Given the description of an element on the screen output the (x, y) to click on. 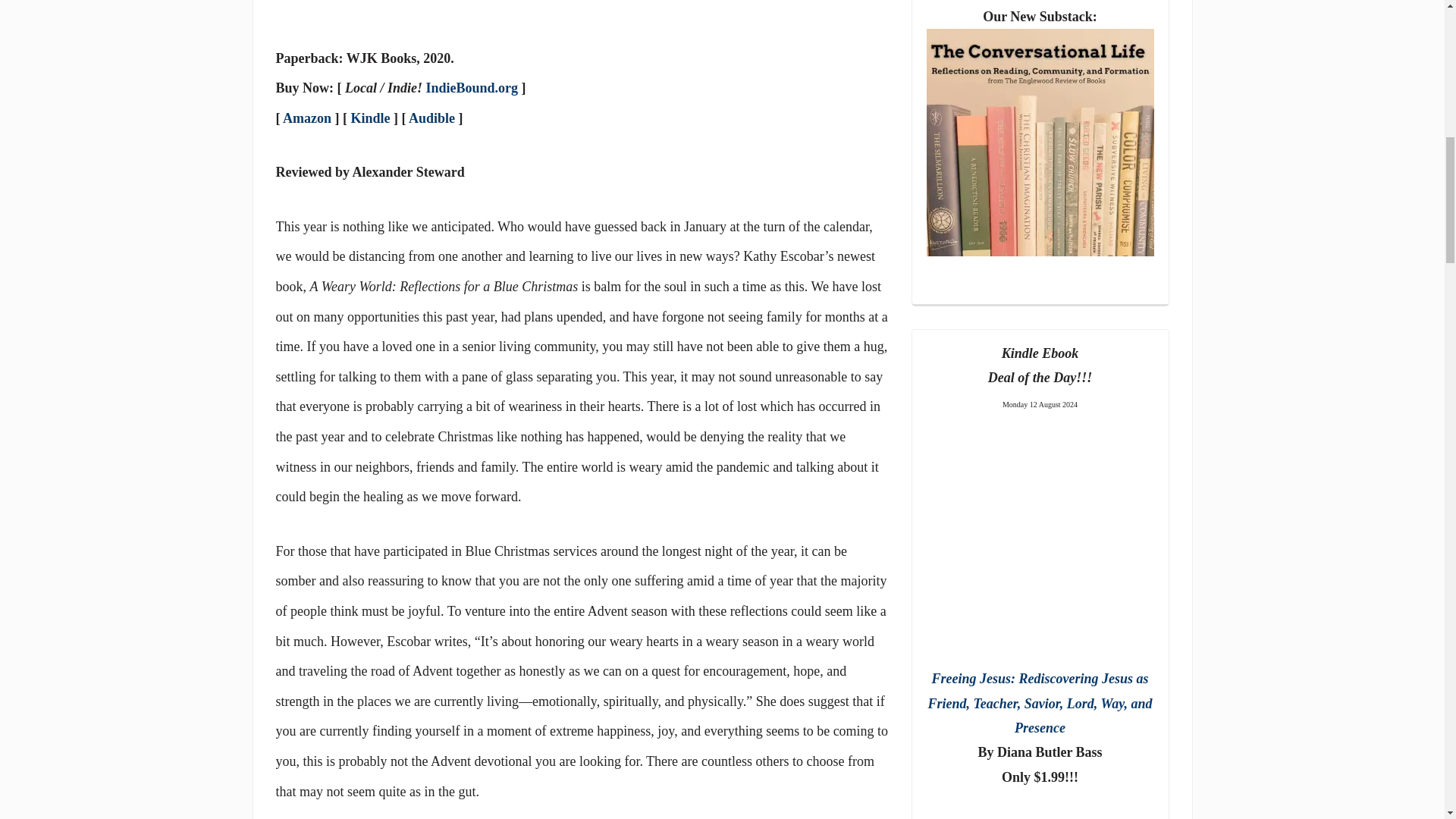
IndieBound.org (472, 87)
Amazon (306, 118)
Kindle (370, 118)
Audible (431, 118)
